Given the description of an element on the screen output the (x, y) to click on. 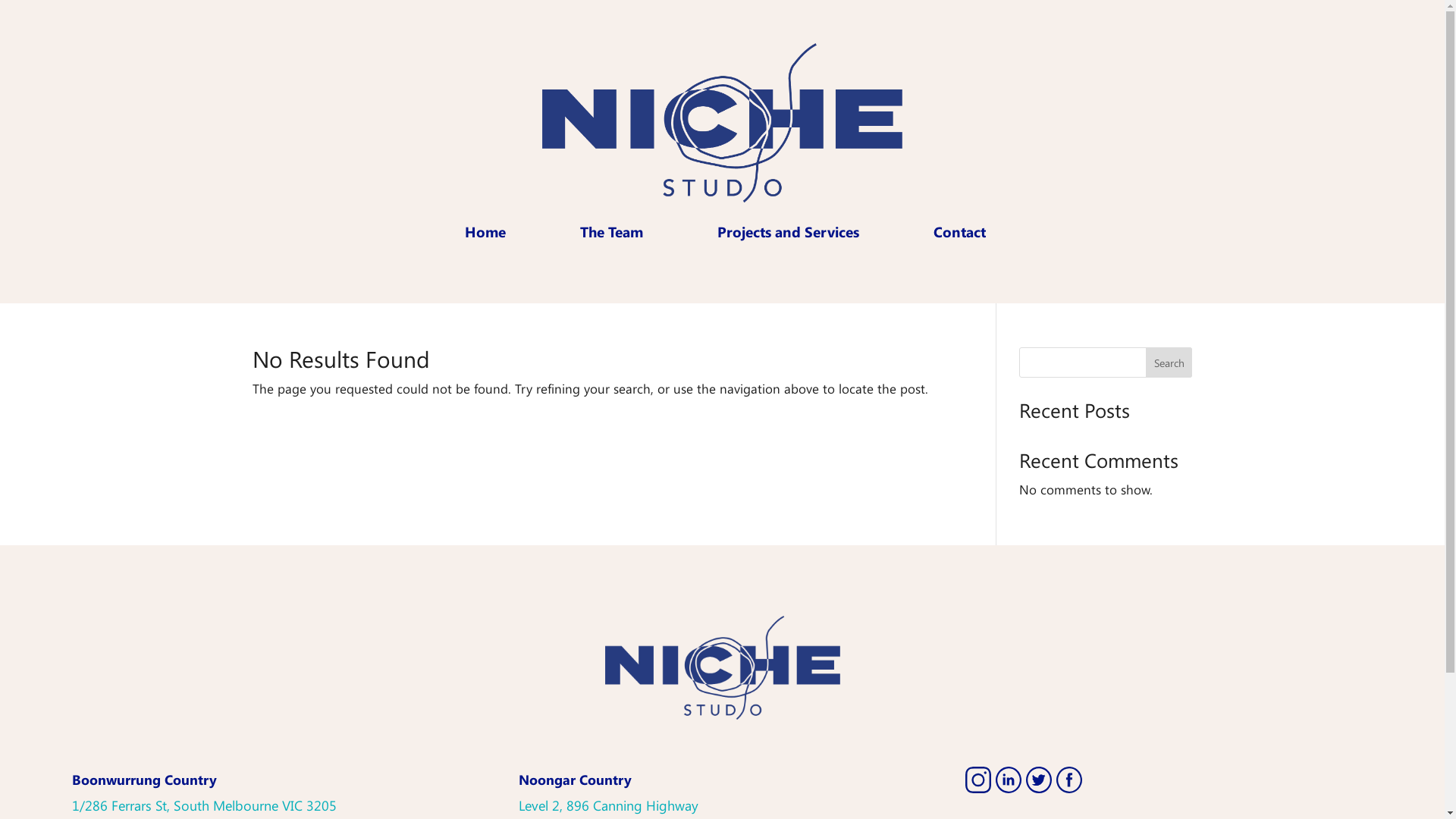
Search Element type: text (1168, 362)
Level 2, 896 Canning Highway Element type: text (608, 805)
Niche-Logo-RGB-NicheBlue Element type: hover (722, 667)
Projects and Services Element type: text (784, 231)
Home Element type: text (482, 231)
1/286 Ferrars St, South Melbourne VIC 3205 Element type: text (204, 805)
The Team Element type: text (608, 231)
Contact Element type: text (956, 231)
